Given the description of an element on the screen output the (x, y) to click on. 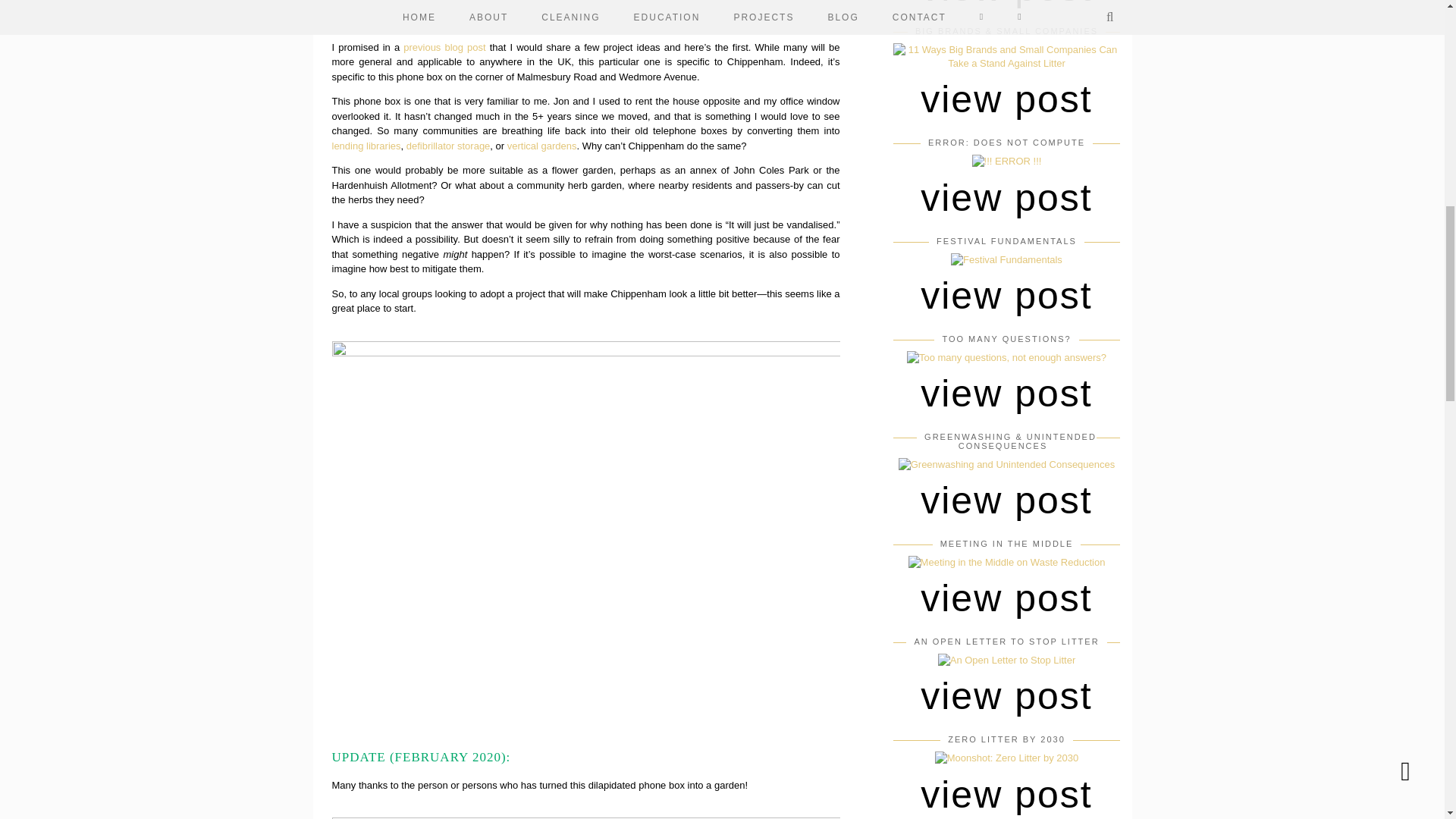
previous blog post (443, 46)
vertical gardens (541, 144)
defibrillator storage (448, 144)
lending libraries (366, 144)
